Given the description of an element on the screen output the (x, y) to click on. 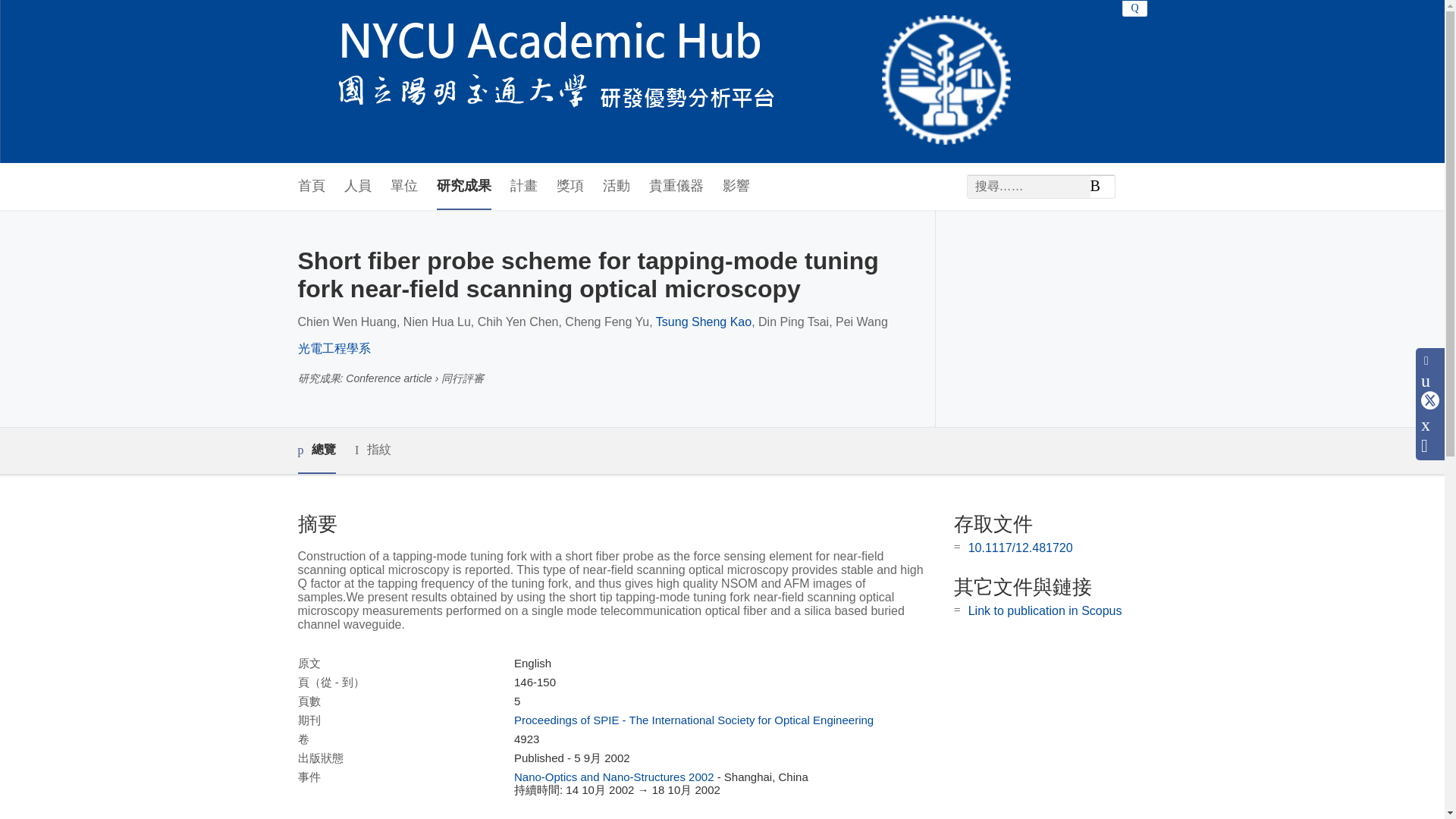
Link to publication in Scopus (1045, 610)
Tsung Sheng Kao (703, 321)
Nano-Optics and Nano-Structures 2002 (613, 776)
